Given the description of an element on the screen output the (x, y) to click on. 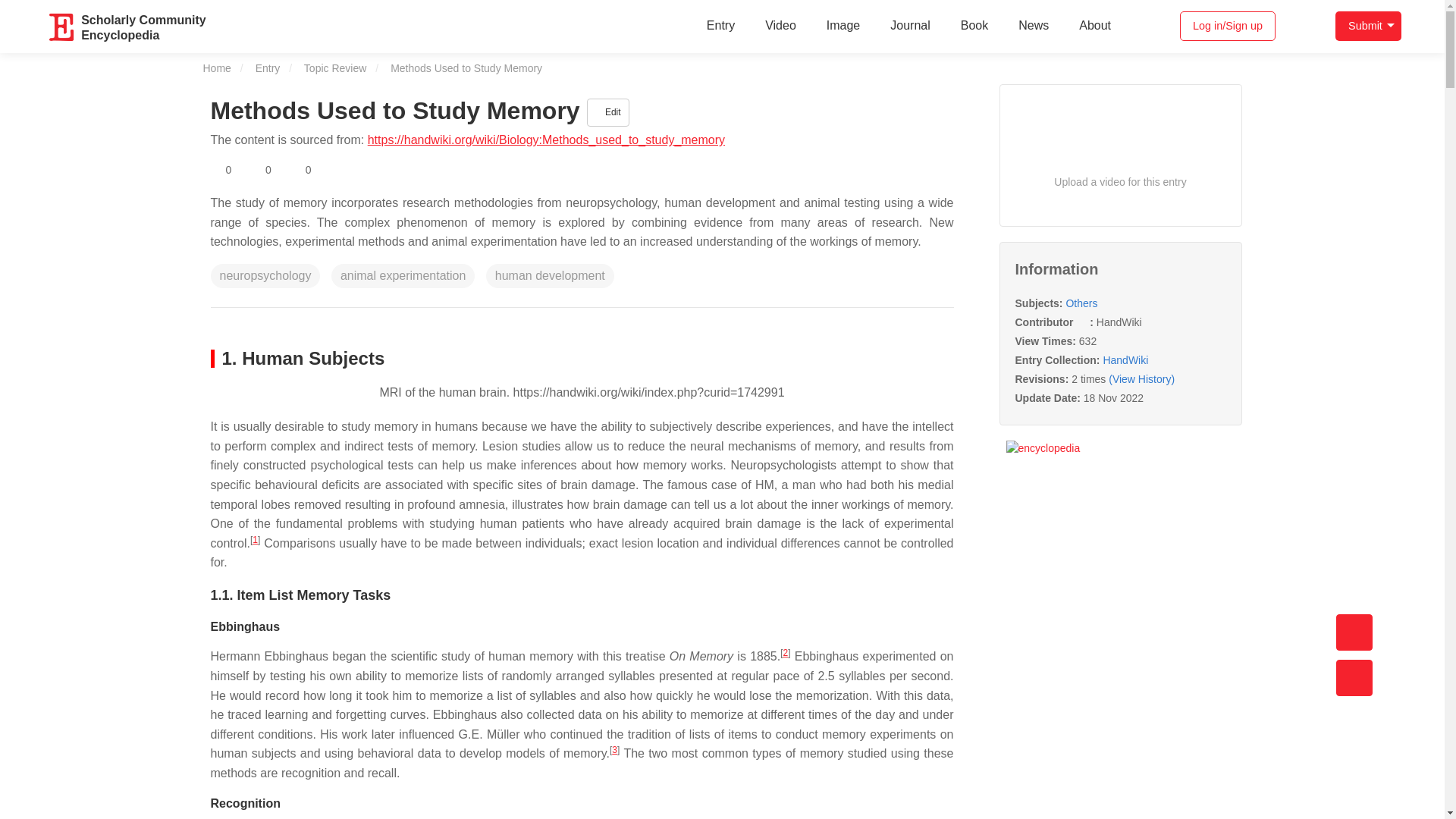
Comment (300, 169)
Favorite (221, 169)
Book (973, 25)
Journal (143, 25)
Entry (909, 25)
News (720, 25)
Like (1033, 25)
Submit (260, 169)
Image (1367, 25)
